Given the description of an element on the screen output the (x, y) to click on. 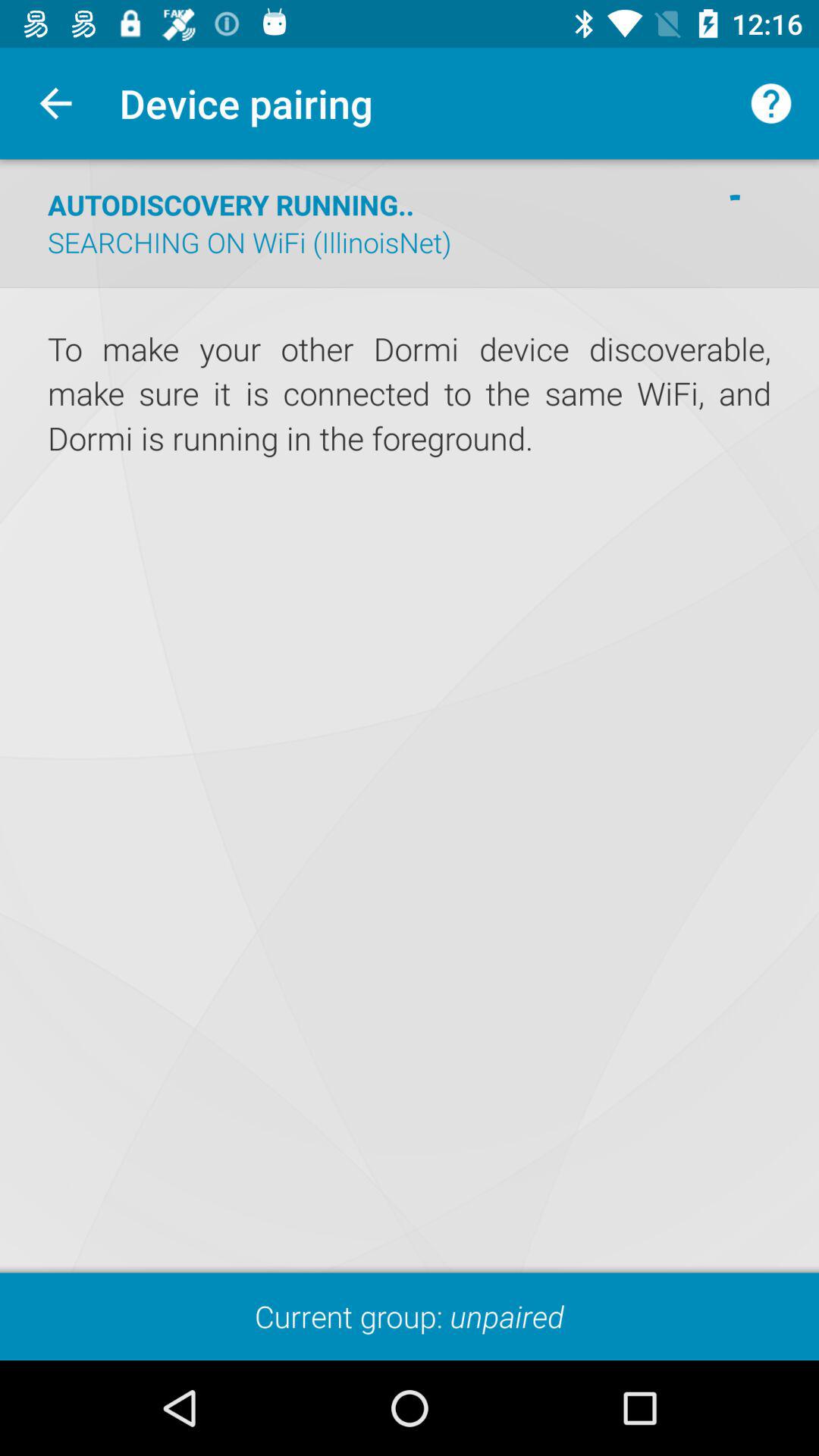
turn off icon above searching on wifi icon (230, 204)
